Given the description of an element on the screen output the (x, y) to click on. 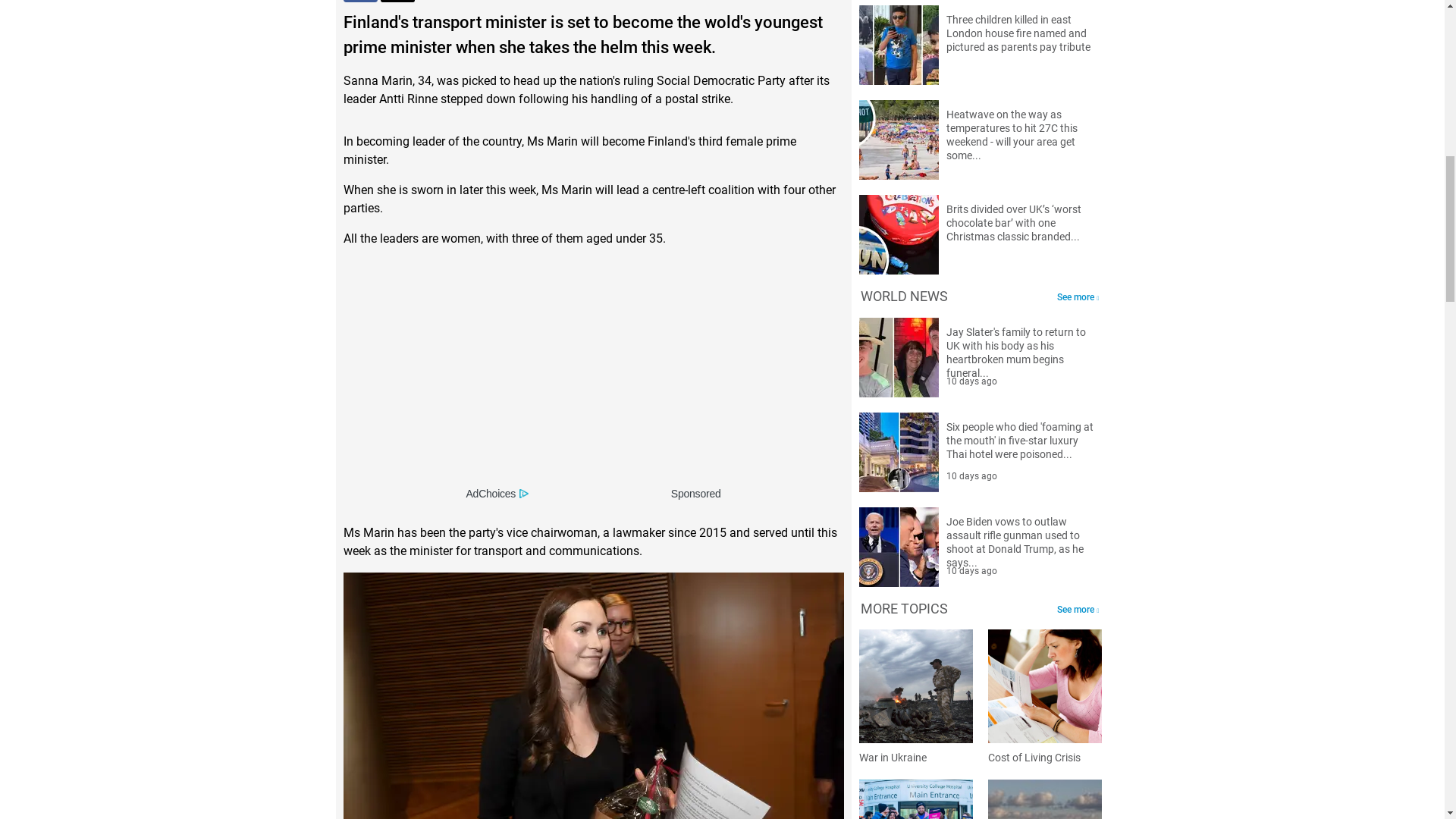
ad content (592, 377)
